Given the description of an element on the screen output the (x, y) to click on. 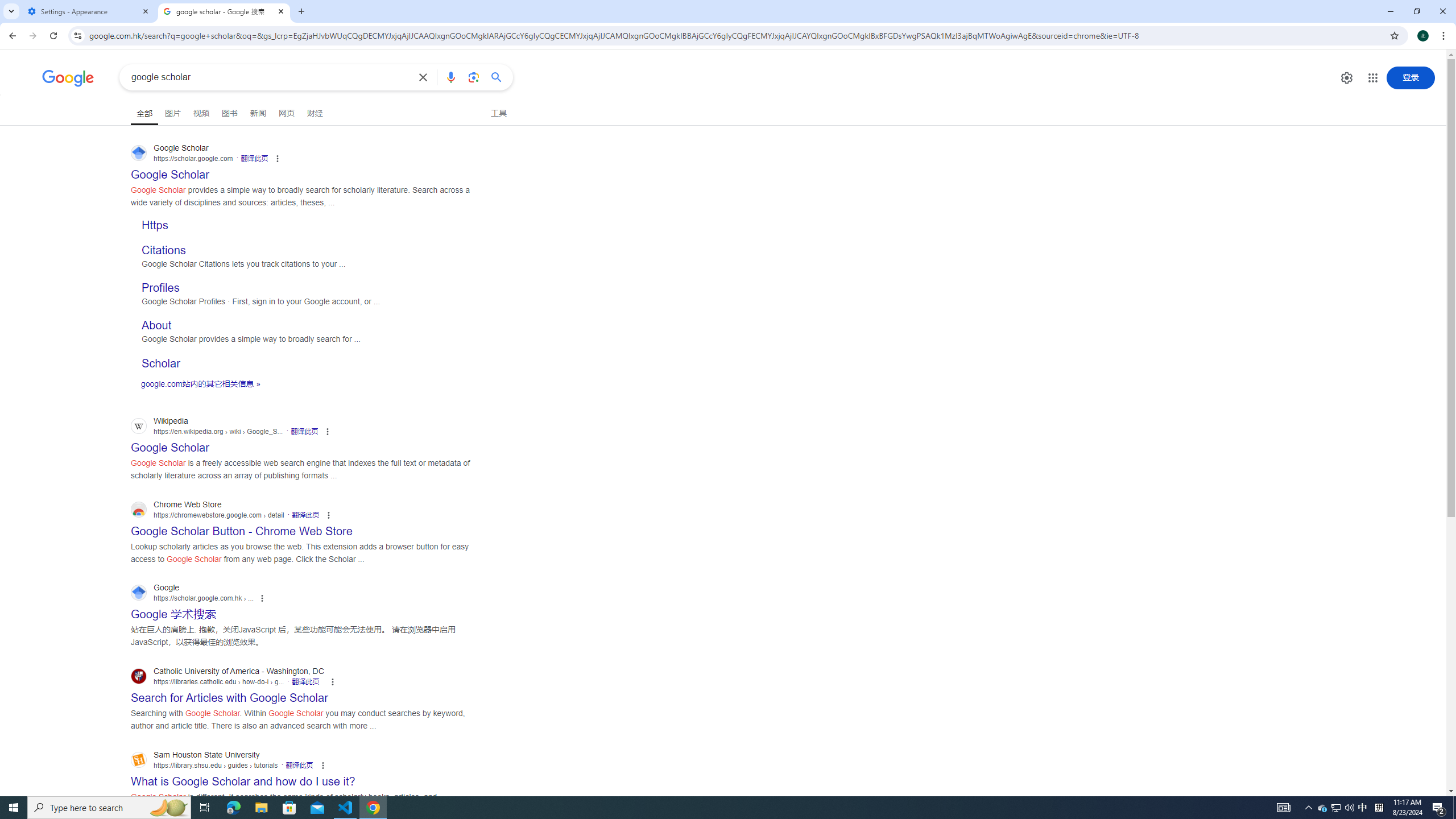
Scholar (160, 362)
Https (306, 223)
Https (154, 224)
 Google Scholar Google Scholar https://scholar.google.com (170, 171)
Scholar (306, 362)
